Given the description of an element on the screen output the (x, y) to click on. 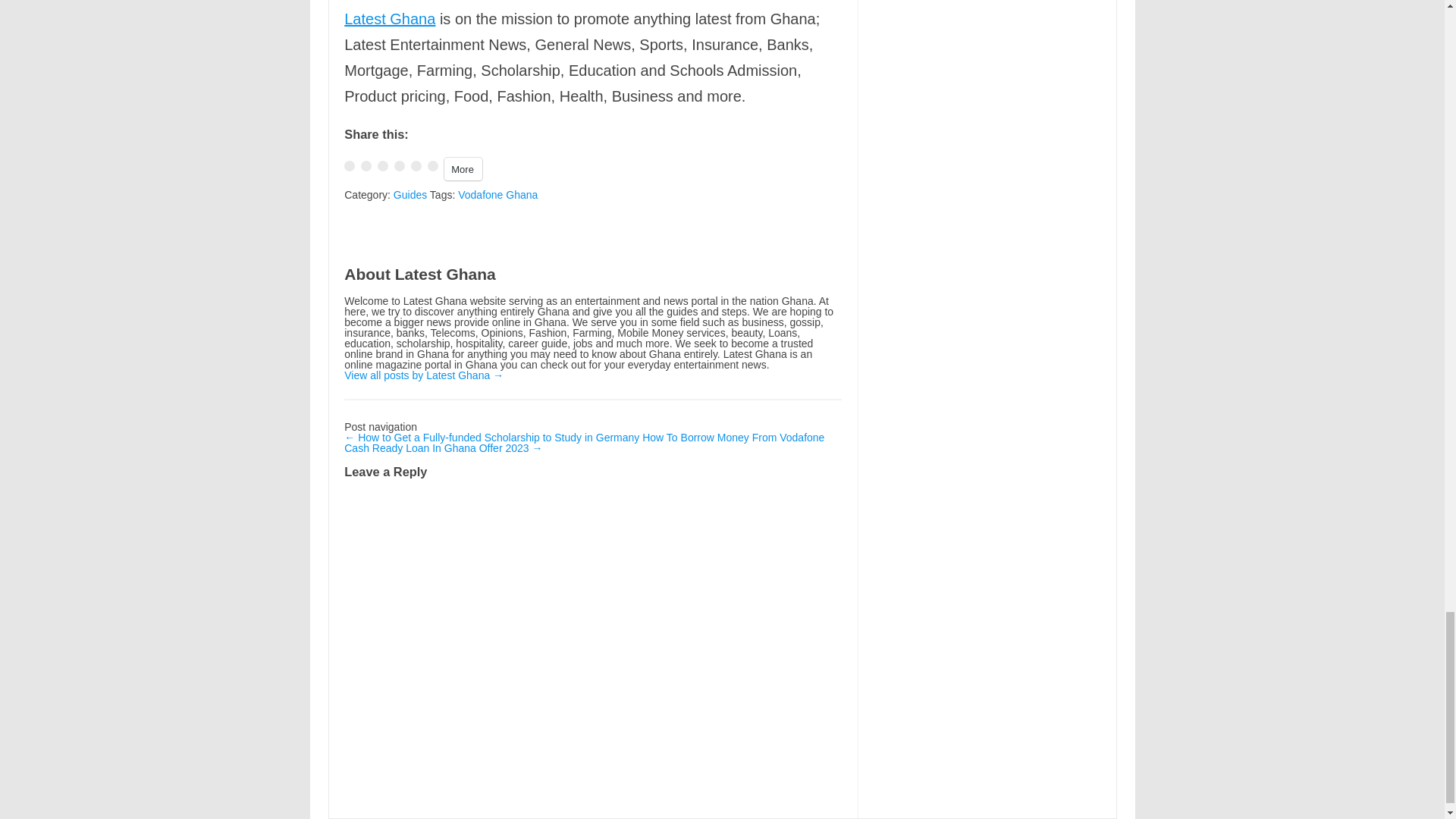
Guides (409, 194)
Click to share on Pinterest (416, 165)
Vodafone Ghana (497, 194)
Click to share on WhatsApp (382, 165)
Click to share on Telegram (399, 165)
Click to share on Twitter (366, 165)
Latest Ghana (389, 18)
Click to share on Facebook (349, 165)
More (462, 169)
